Given the description of an element on the screen output the (x, y) to click on. 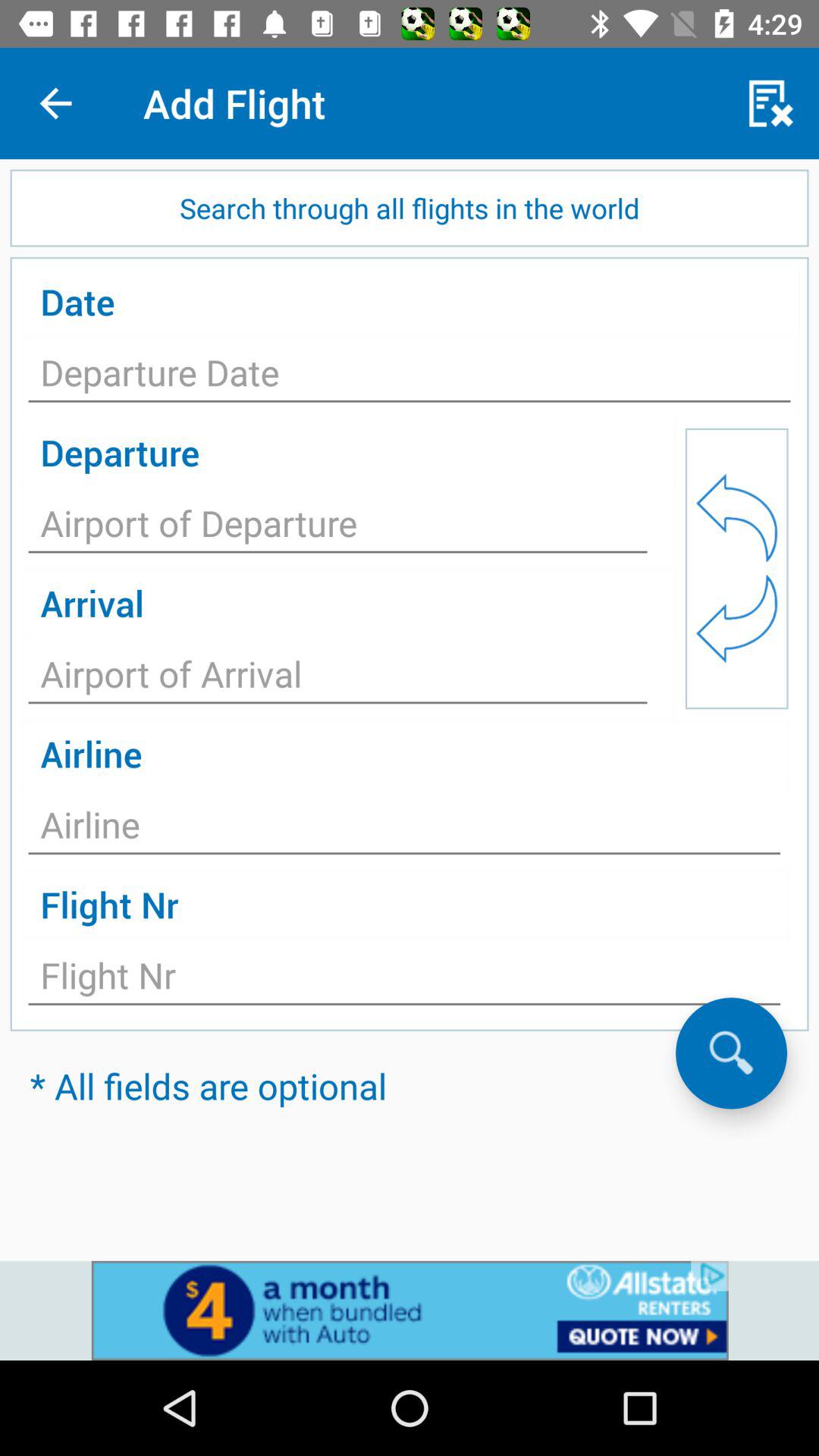
enter airline name (404, 829)
